Given the description of an element on the screen output the (x, y) to click on. 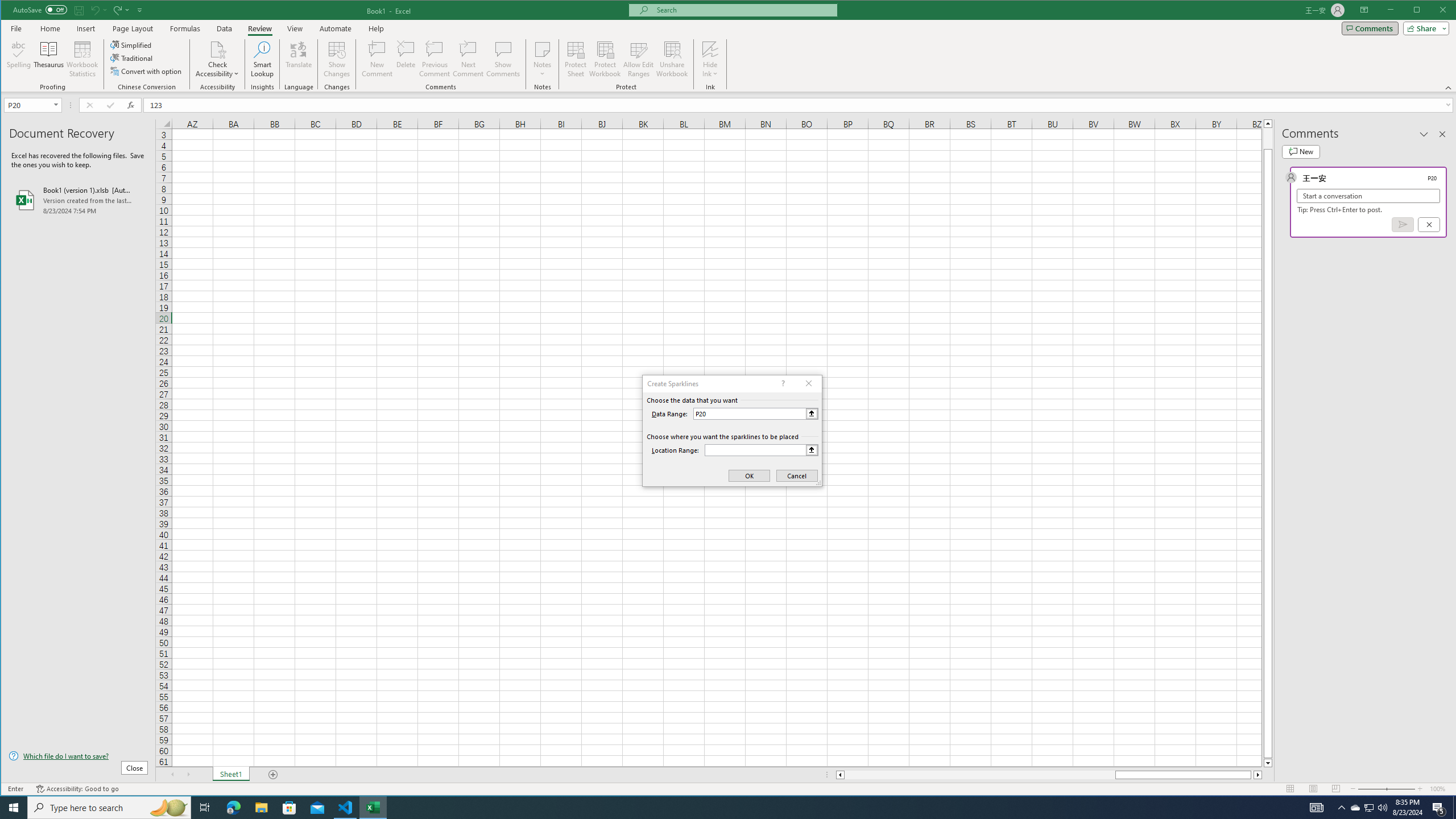
Next Comment (467, 59)
Spelling... (18, 59)
Translate (298, 59)
New comment (1300, 151)
Convert with option (146, 70)
Smart Lookup (261, 59)
